Given the description of an element on the screen output the (x, y) to click on. 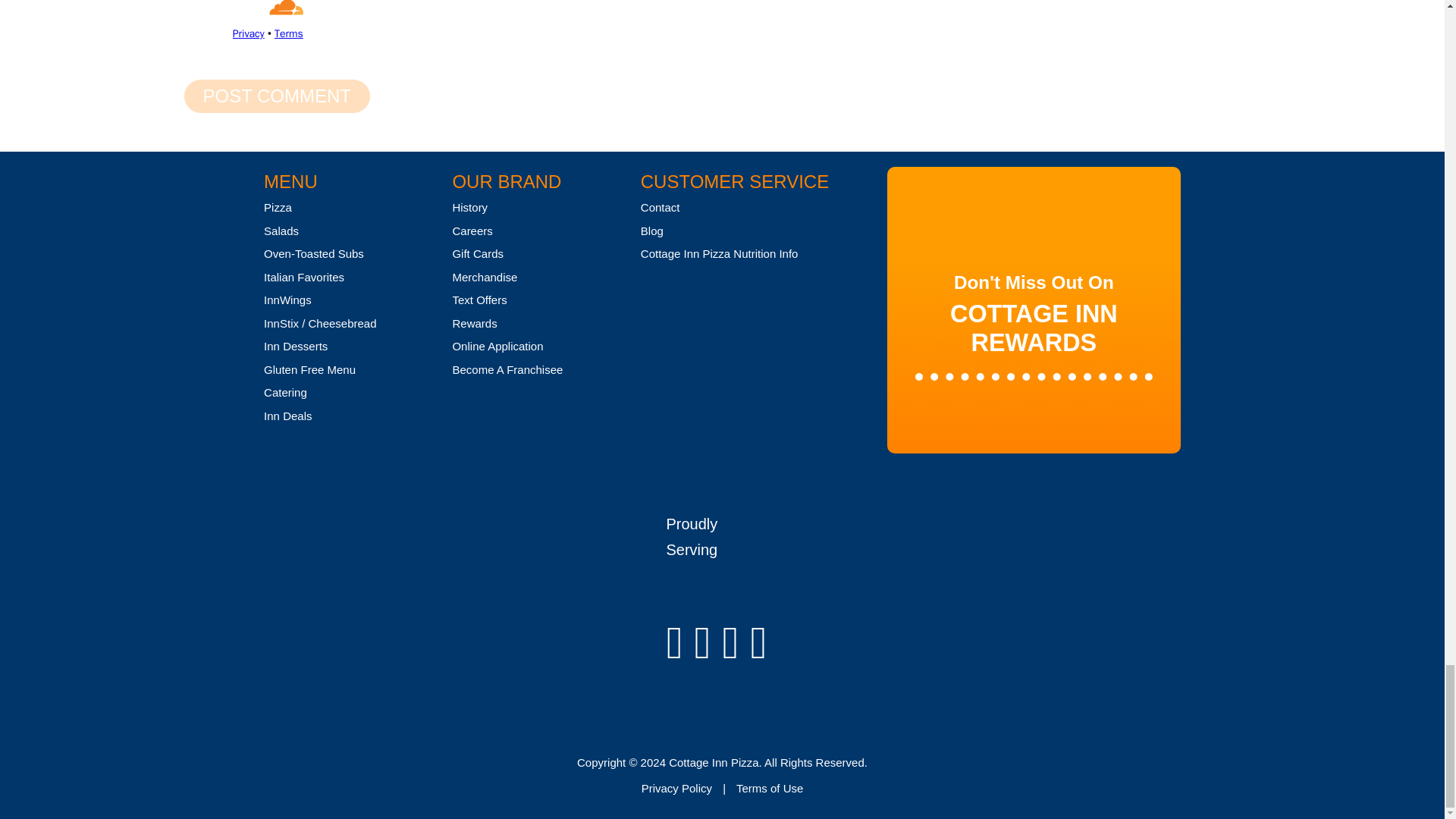
Inn Deals (287, 415)
Gluten Free Menu (309, 369)
Inn Desserts (295, 345)
Salads (280, 230)
Oven-Toasted Subs (313, 253)
Our Brand (505, 181)
Careers (471, 230)
Post Comment (276, 96)
Italian Favorites (303, 277)
Menu (290, 181)
